Given the description of an element on the screen output the (x, y) to click on. 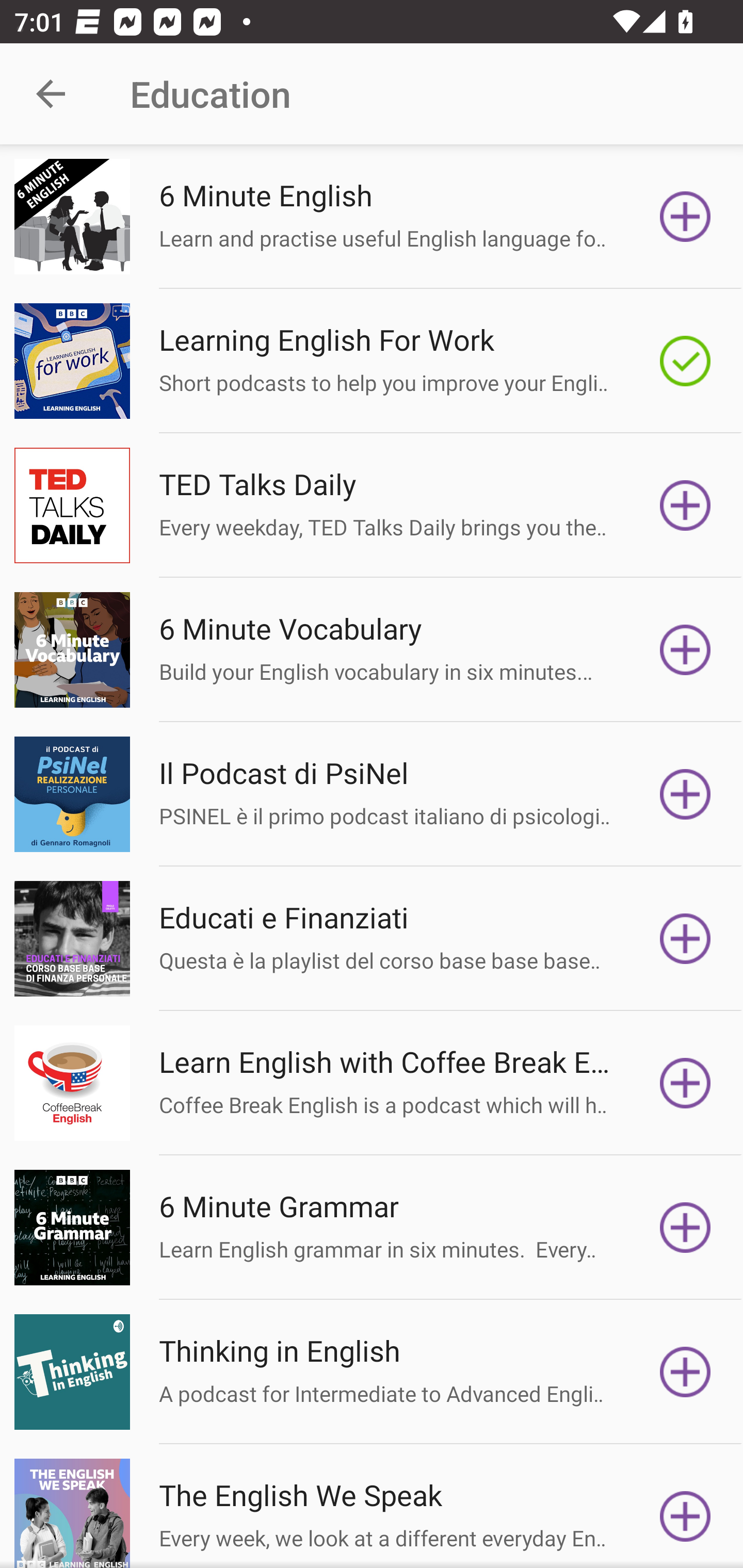
Navigate up (50, 93)
Subscribe (685, 216)
Subscribed (685, 360)
Subscribe (685, 505)
Subscribe (685, 649)
Subscribe (685, 793)
Subscribe (685, 939)
Subscribe (685, 1083)
Subscribe (685, 1227)
Subscribe (685, 1371)
Subscribe (685, 1513)
